Given the description of an element on the screen output the (x, y) to click on. 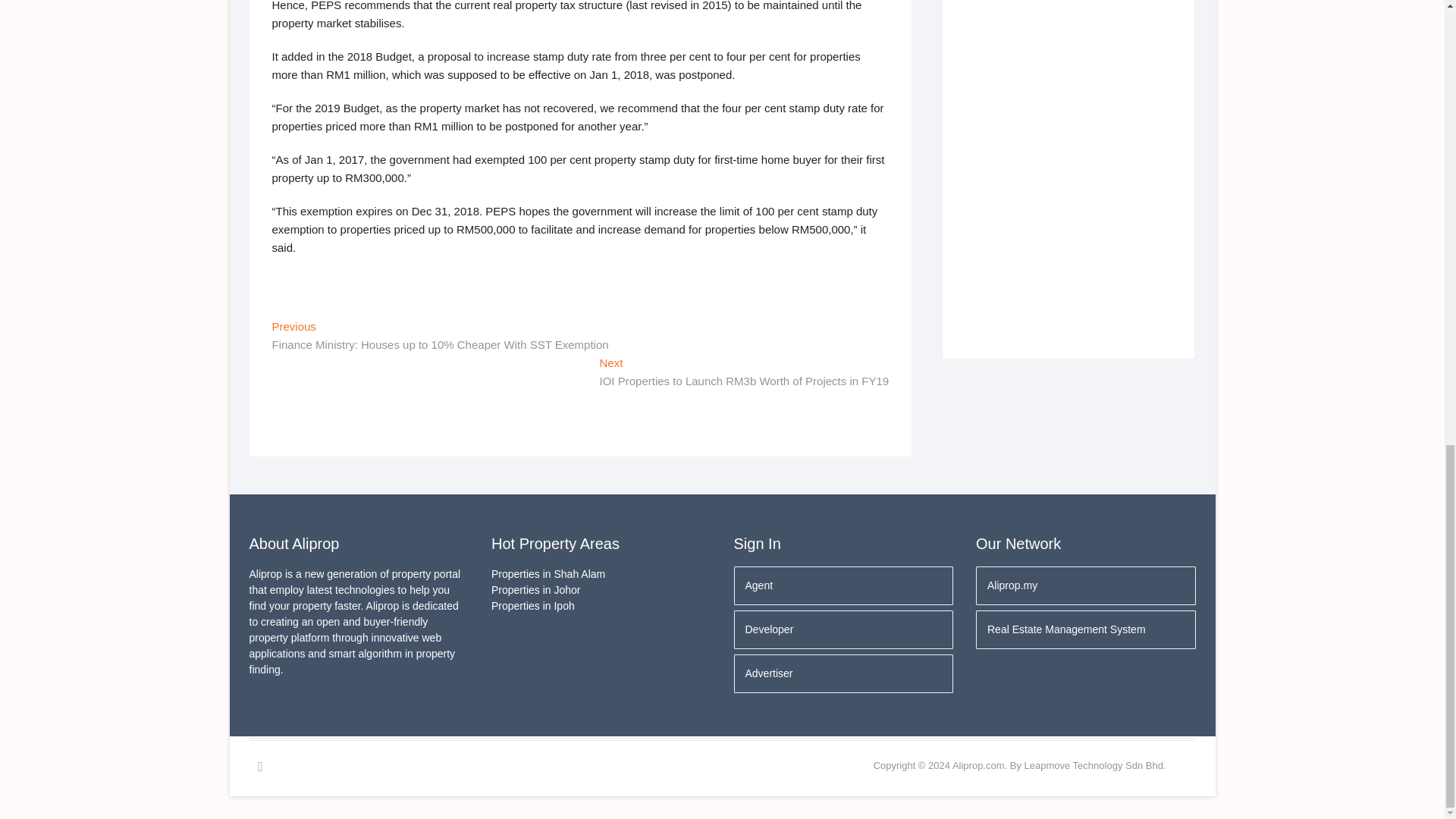
Real Estate Management System (1085, 629)
Developer (843, 629)
Aliprop (979, 765)
Facebook (259, 766)
Advertiser (843, 673)
Aliprop.my (1085, 585)
Properties in Johor (601, 590)
Properties in Shah Alam (601, 574)
Properties in Ipoh (601, 606)
Aliprop.com. (979, 765)
Agent (843, 585)
